Given the description of an element on the screen output the (x, y) to click on. 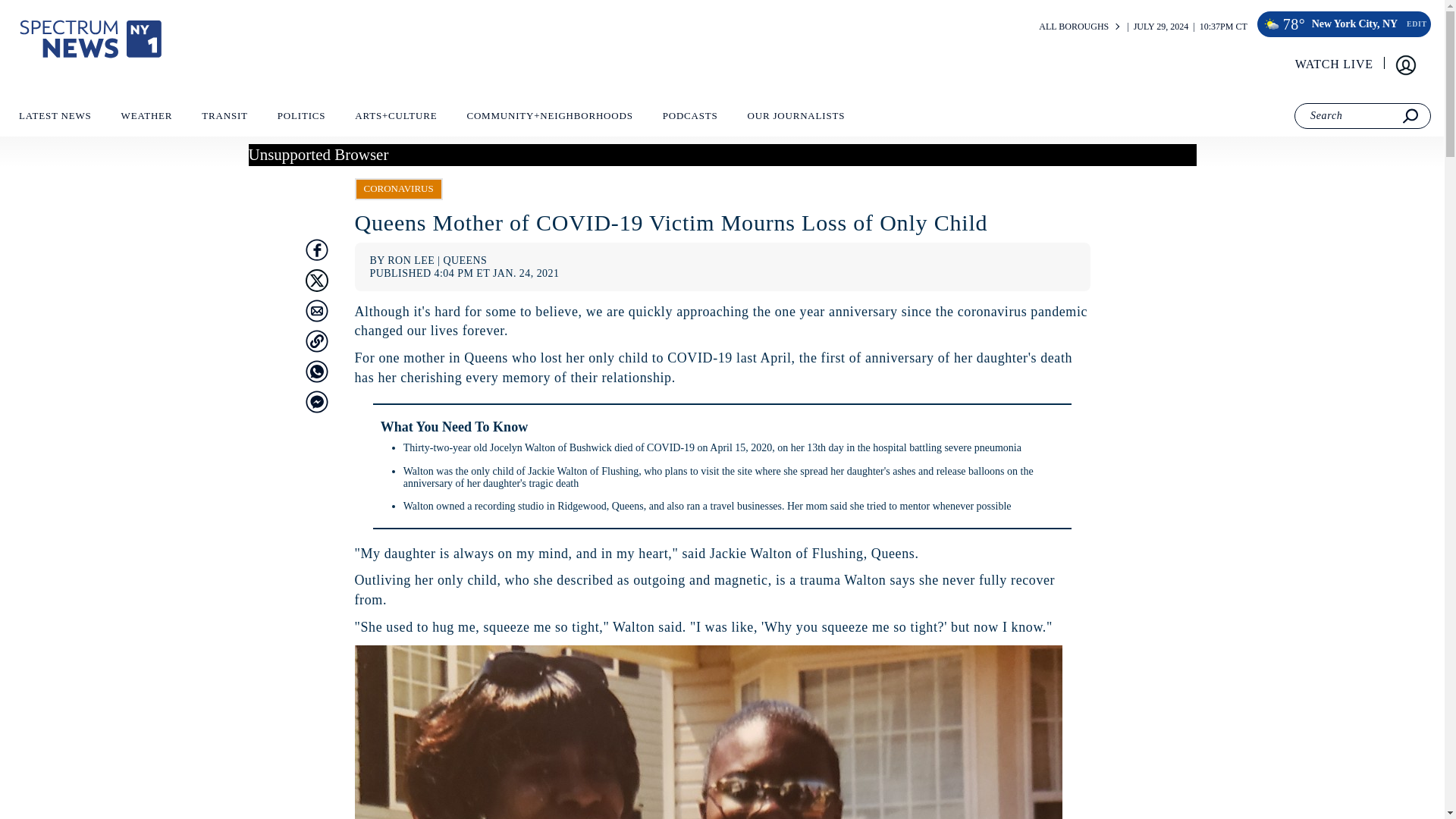
WATCH LIVE (1334, 64)
ALL BOROUGHS (1073, 26)
Share with Whatsapp (315, 371)
WEATHER (146, 119)
LATEST NEWS (55, 119)
Share with Facebook (315, 250)
Share with Twitter (315, 280)
Copy article link (315, 341)
Share with Facebook Messenger (315, 401)
Share with Email (315, 310)
New York City, NY (1354, 23)
